Given the description of an element on the screen output the (x, y) to click on. 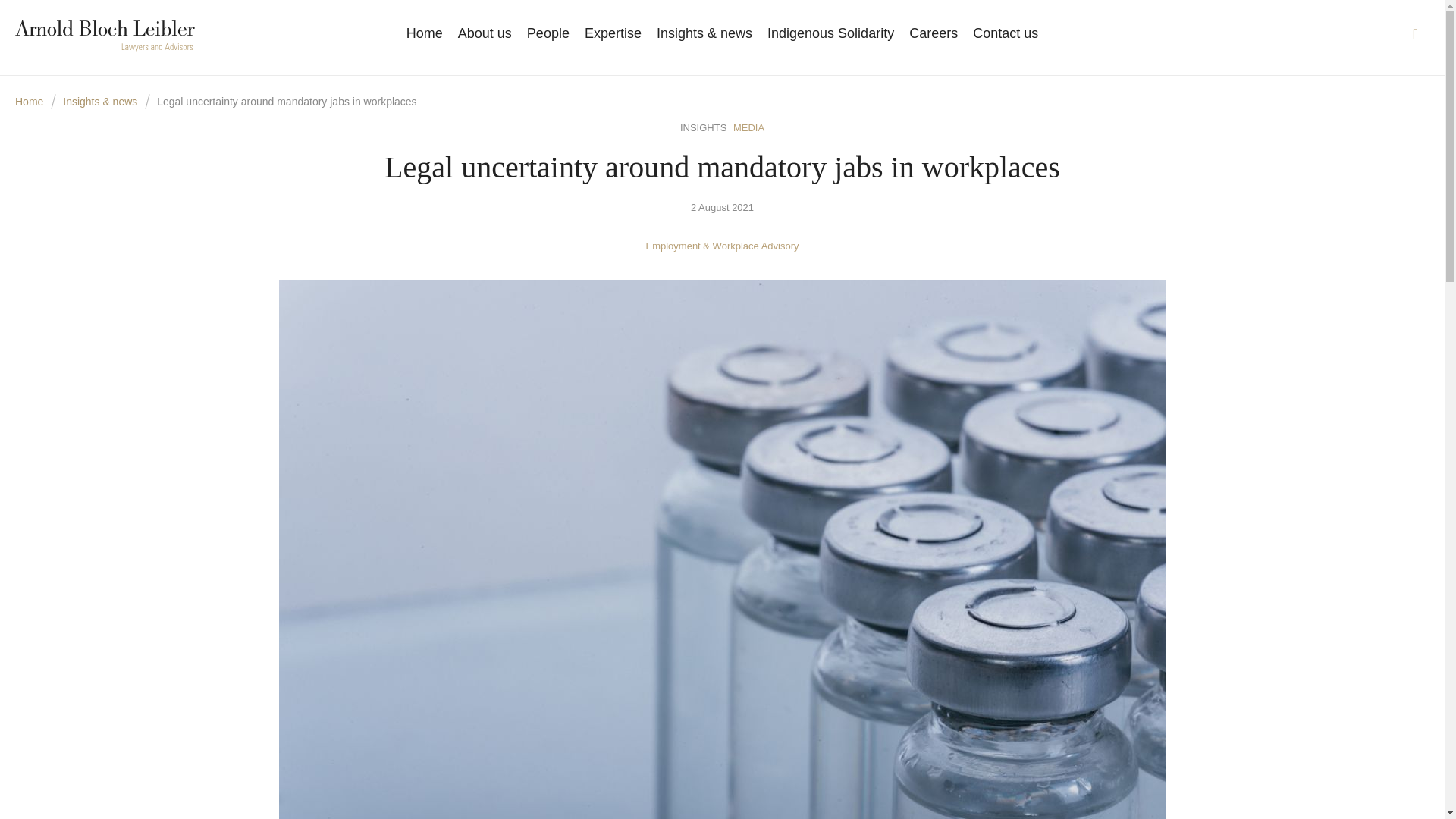
Go to homepage (105, 35)
